Given the description of an element on the screen output the (x, y) to click on. 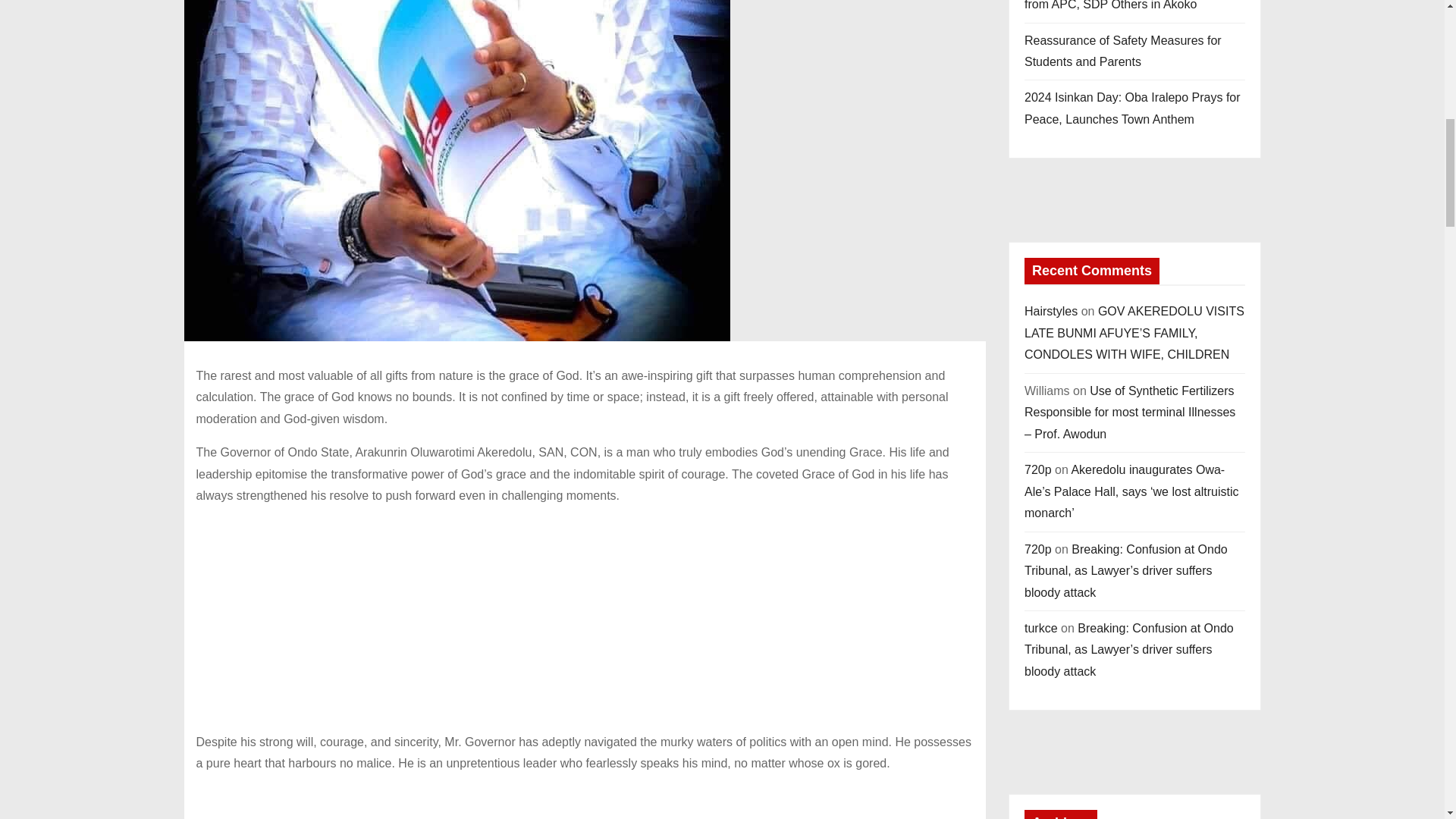
Advertisement (584, 802)
